Given the description of an element on the screen output the (x, y) to click on. 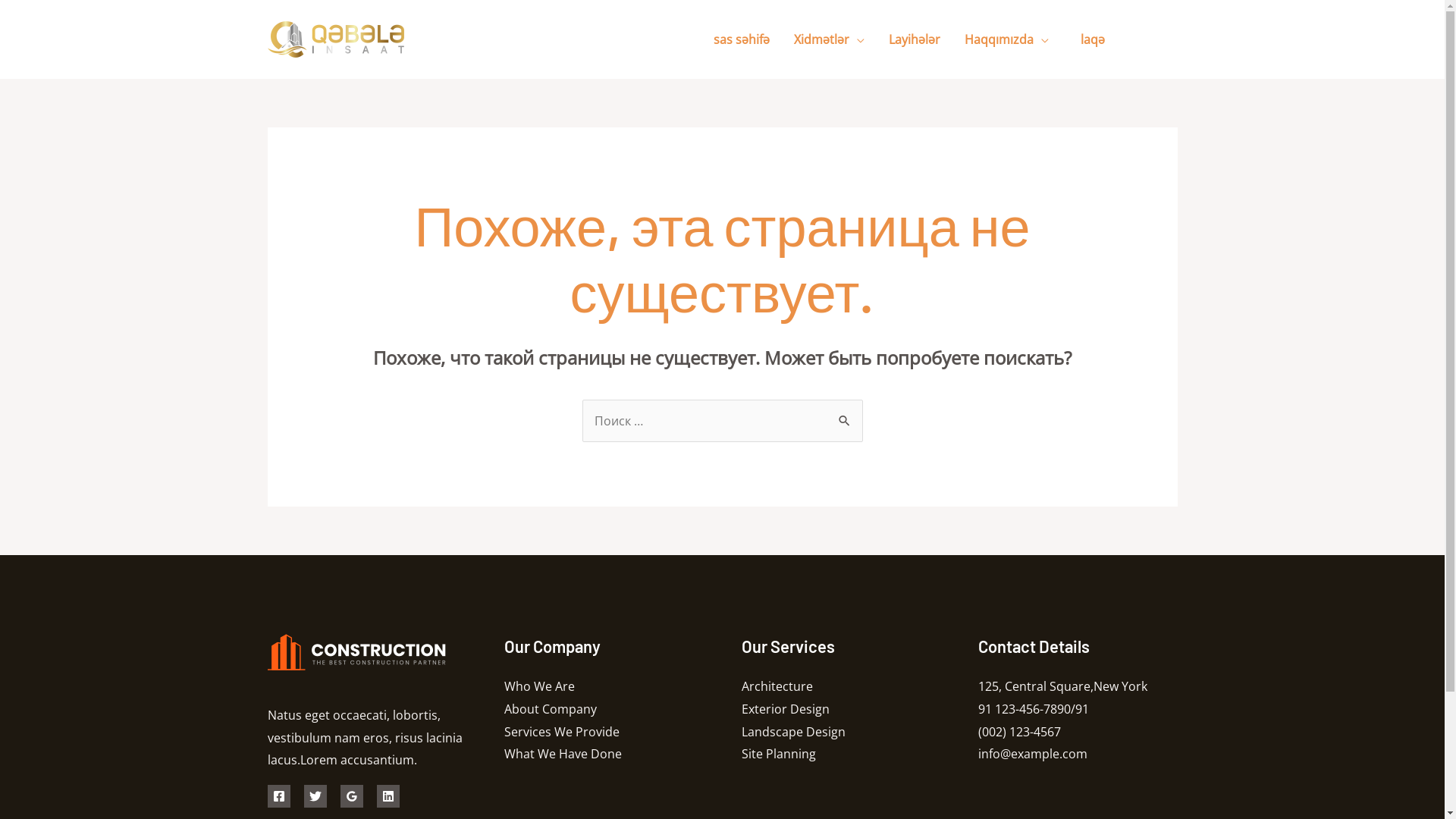
Architecture Element type: text (776, 685)
125, Central Square,New York Element type: text (1062, 685)
About Company Element type: text (550, 708)
(002) 123-4567 Element type: text (1019, 731)
info@example.com Element type: text (1032, 753)
Exterior Design Element type: text (785, 708)
What We Have Done Element type: text (562, 753)
Site Planning Element type: text (778, 753)
Who We Are Element type: text (539, 685)
Services We Provide Element type: text (561, 731)
91 123-456-7890/91 Element type: text (1033, 708)
Landscape Design Element type: text (793, 731)
